Given the description of an element on the screen output the (x, y) to click on. 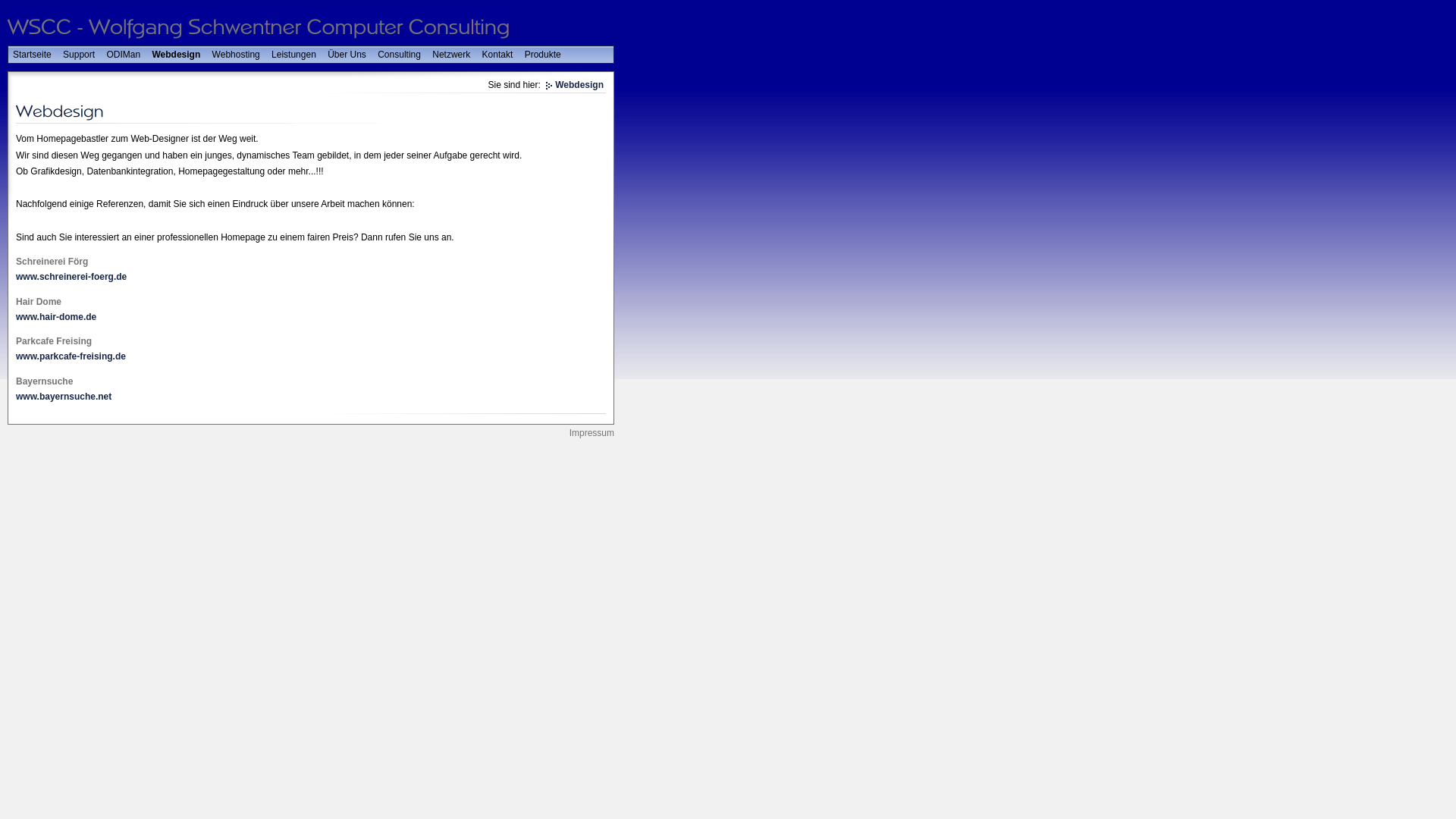
Produkte Element type: text (542, 54)
www.parkcafe-freising.de Element type: text (70, 356)
Webdesign Element type: text (175, 54)
www.hair-dome.de Element type: text (55, 316)
Webdesign Element type: text (573, 84)
Kontakt Element type: text (497, 54)
Netzwerk Element type: text (450, 54)
Webhosting Element type: text (235, 54)
www.bayernsuche.net Element type: text (63, 396)
Consulting Element type: text (399, 54)
www.schreinerei-foerg.de Element type: text (70, 276)
Startseite Element type: text (32, 54)
Impressum Element type: text (589, 432)
Support Element type: text (78, 54)
Leistungen Element type: text (293, 54)
ODIMan Element type: text (122, 54)
